Given the description of an element on the screen output the (x, y) to click on. 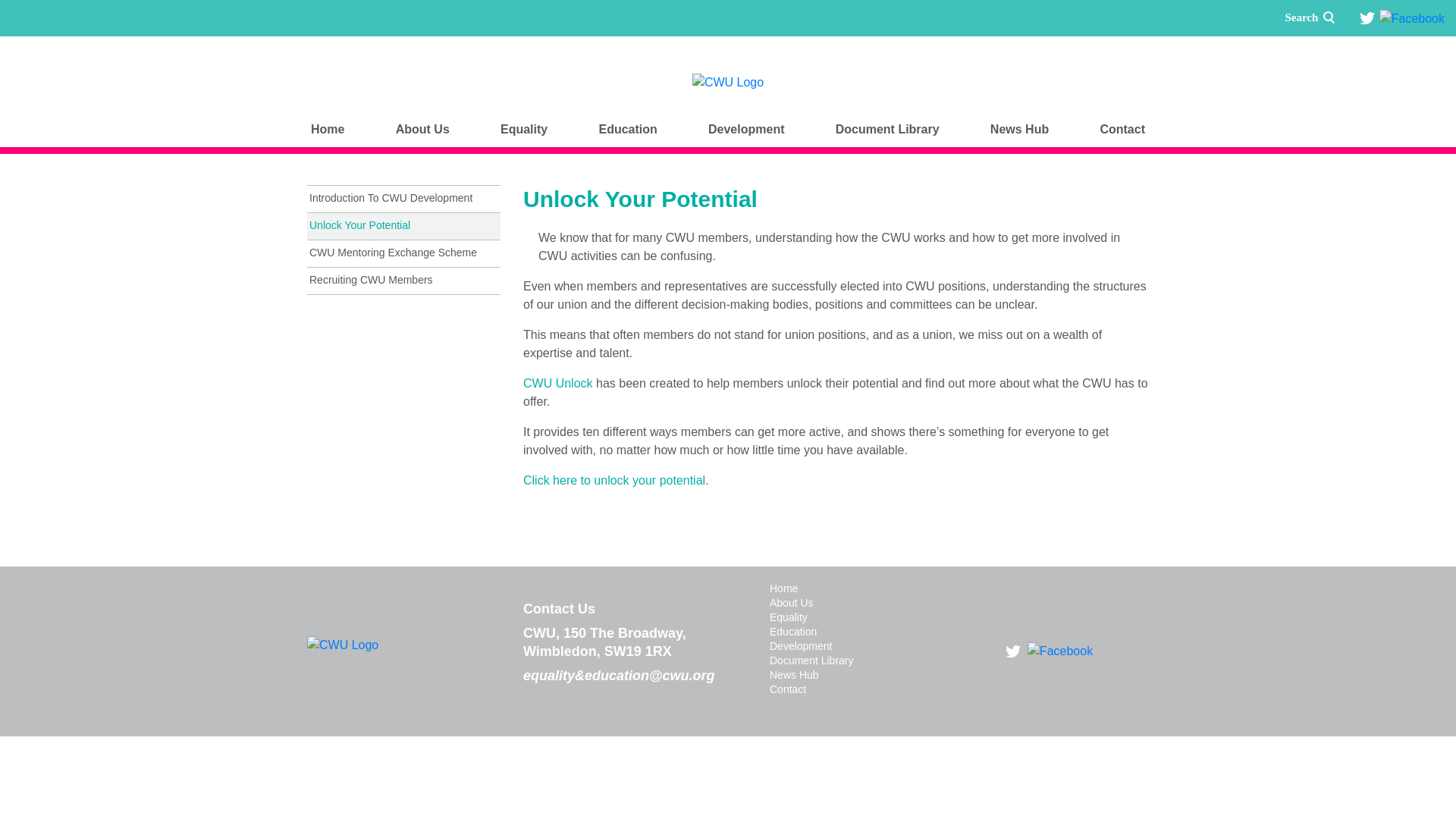
Education (627, 129)
Contact (1122, 129)
News Hub (1019, 129)
Home (327, 129)
Development (746, 129)
About Us (422, 129)
Click here to unlock your potential (613, 480)
Unlock Your Potential (403, 226)
Equality (523, 129)
Introduction To CWU Development (403, 198)
